Given the description of an element on the screen output the (x, y) to click on. 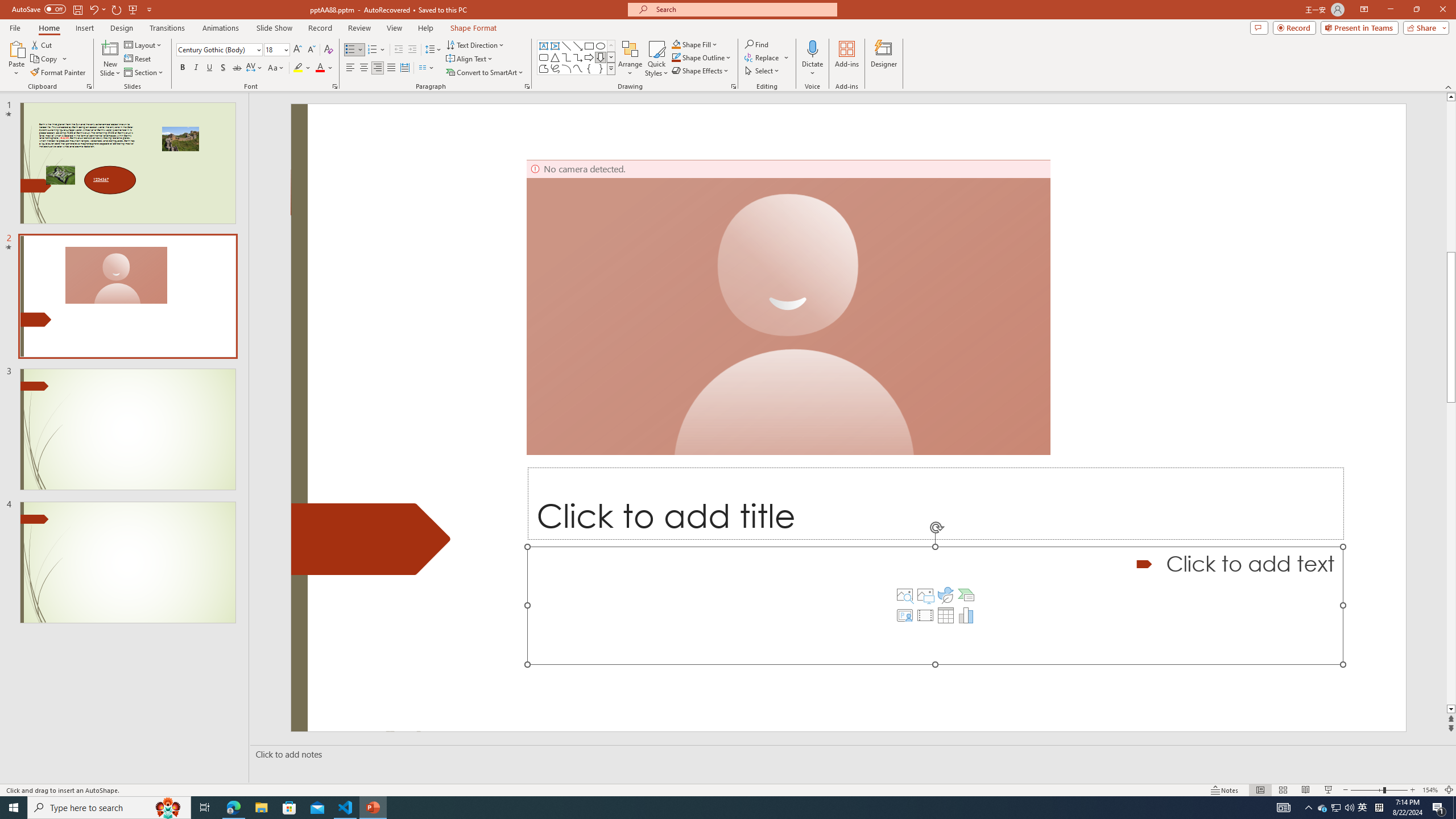
Shape Fill Aqua, Accent 2 (675, 44)
